Given the description of an element on the screen output the (x, y) to click on. 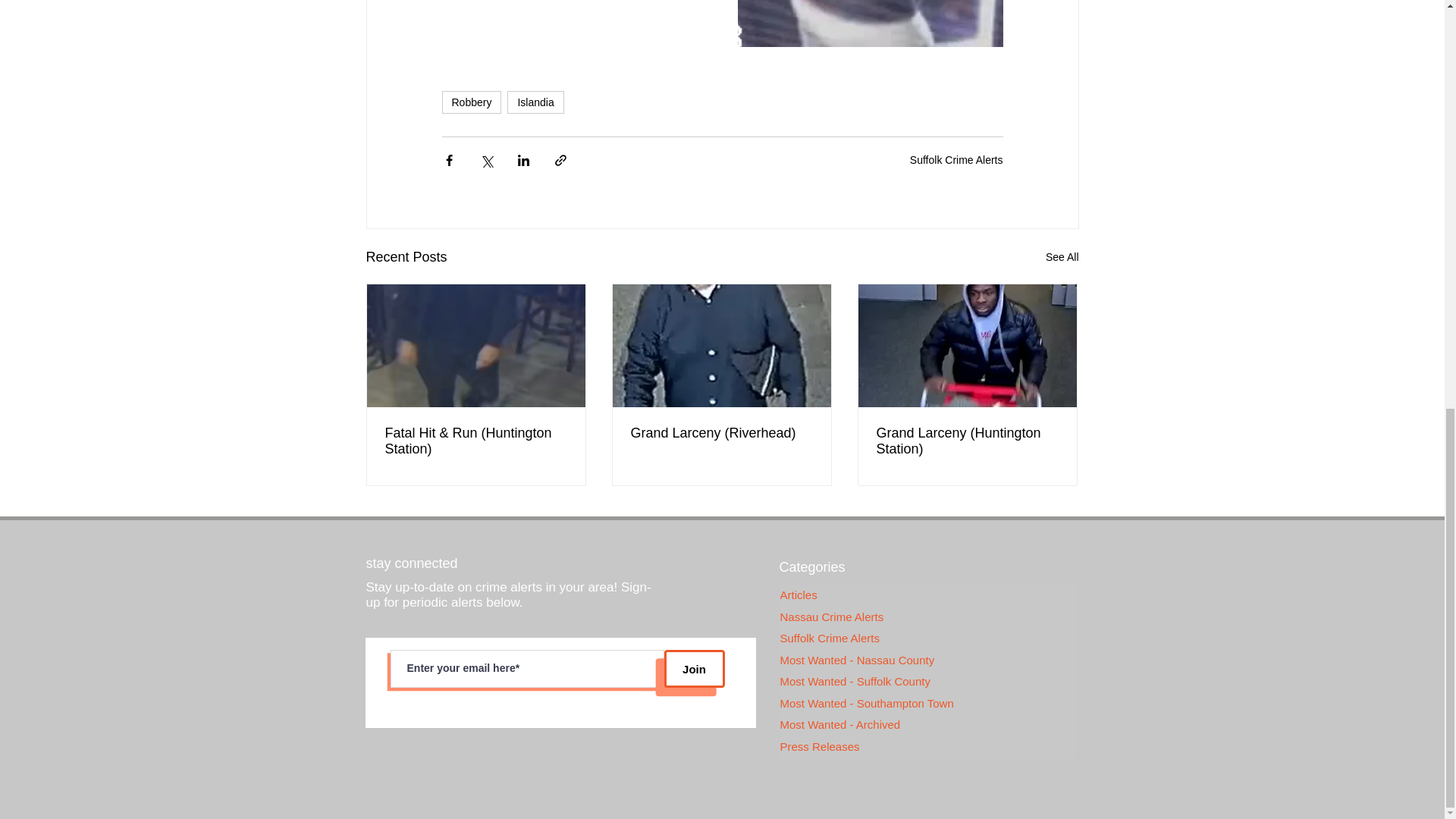
Islandia (534, 101)
Robbery (470, 101)
Suffolk Crime Alerts (926, 639)
Articles (926, 595)
Suffolk Crime Alerts (956, 159)
Nassau Crime Alerts (926, 617)
See All (1061, 257)
Most Wanted - Southampton Town (926, 703)
Most Wanted - Suffolk County (926, 681)
Most Wanted - Nassau County (926, 660)
